Given the description of an element on the screen output the (x, y) to click on. 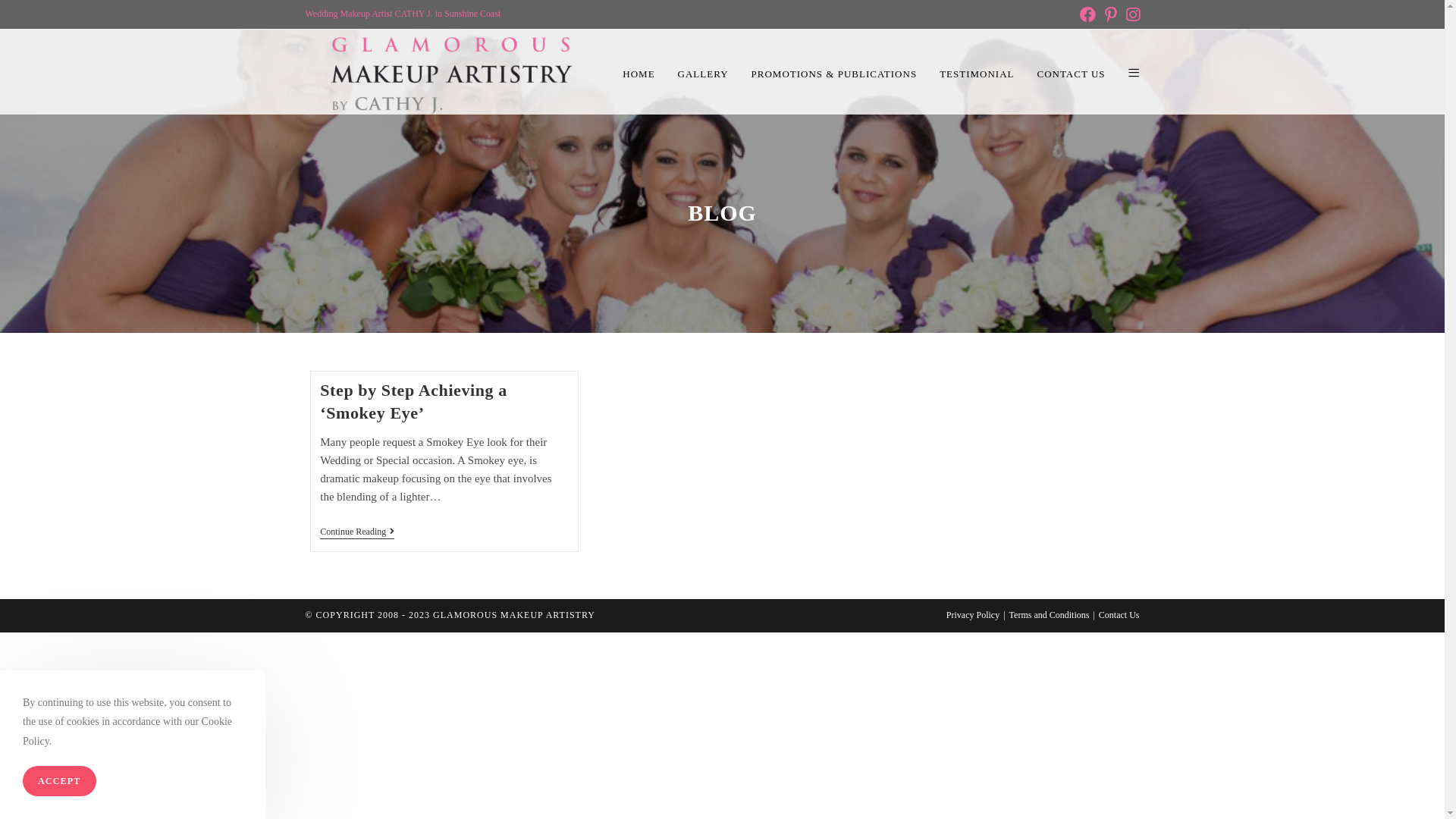
ACCEPT Element type: text (59, 780)
CONTACT US Element type: text (1071, 73)
Contact Us Element type: text (1118, 614)
Terms and Conditions Element type: text (1049, 614)
Privacy Policy Element type: text (972, 614)
PROMOTIONS & PUBLICATIONS Element type: text (834, 73)
TESTIMONIAL Element type: text (976, 73)
HOME Element type: text (638, 73)
GALLERY Element type: text (703, 73)
